Given the description of an element on the screen output the (x, y) to click on. 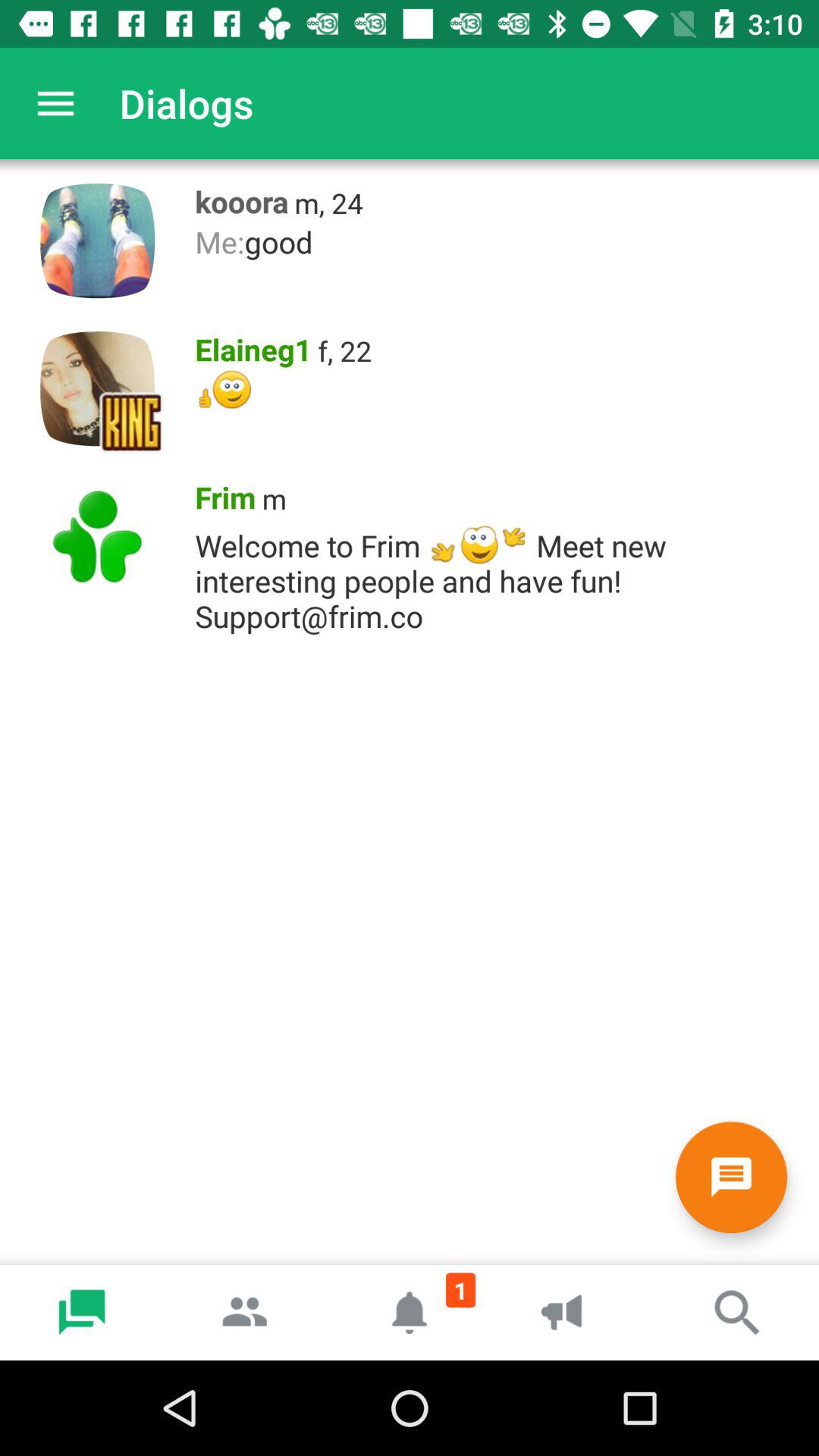
starting new dialogs (731, 1177)
